Given the description of an element on the screen output the (x, y) to click on. 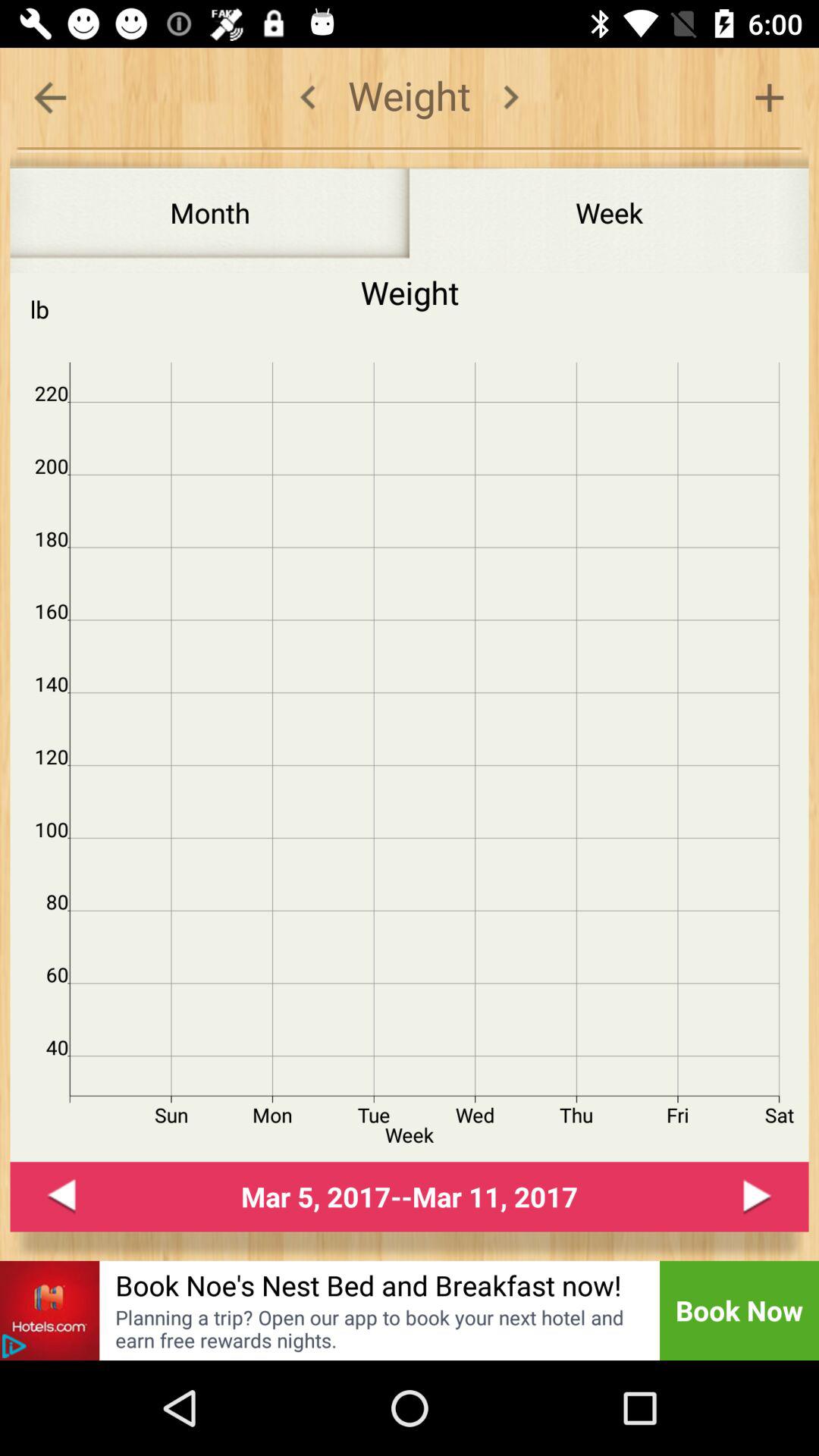
go back (49, 97)
